Given the description of an element on the screen output the (x, y) to click on. 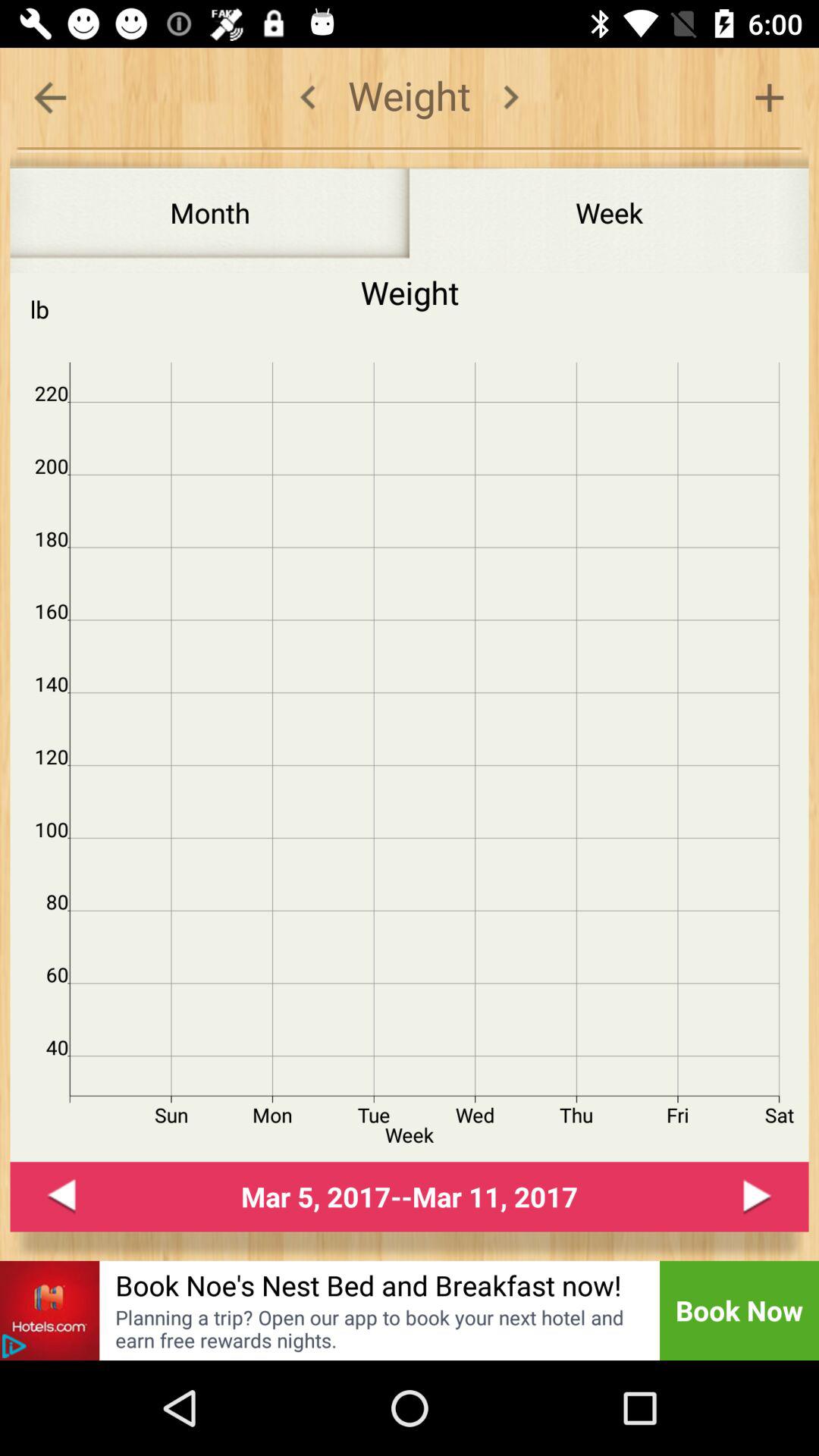
go back (49, 97)
